Given the description of an element on the screen output the (x, y) to click on. 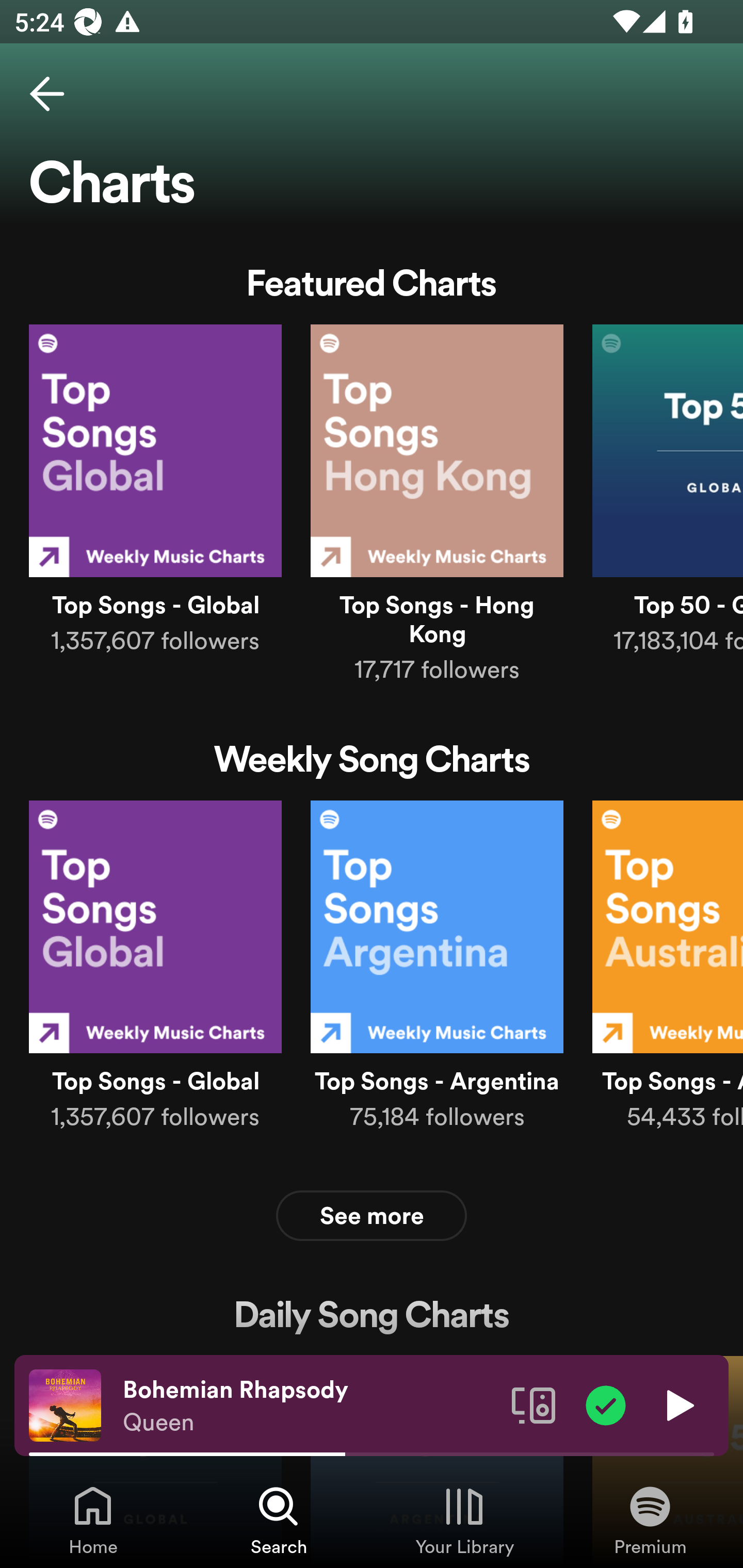
Back (46, 93)
See more (371, 1215)
Bohemian Rhapsody Queen (309, 1405)
The cover art of the currently playing track (64, 1404)
Connect to a device. Opens the devices menu (533, 1404)
Item added (605, 1404)
Play (677, 1404)
Home, Tab 1 of 4 Home Home (92, 1519)
Search, Tab 2 of 4 Search Search (278, 1519)
Your Library, Tab 3 of 4 Your Library Your Library (464, 1519)
Premium, Tab 4 of 4 Premium Premium (650, 1519)
